Given the description of an element on the screen output the (x, y) to click on. 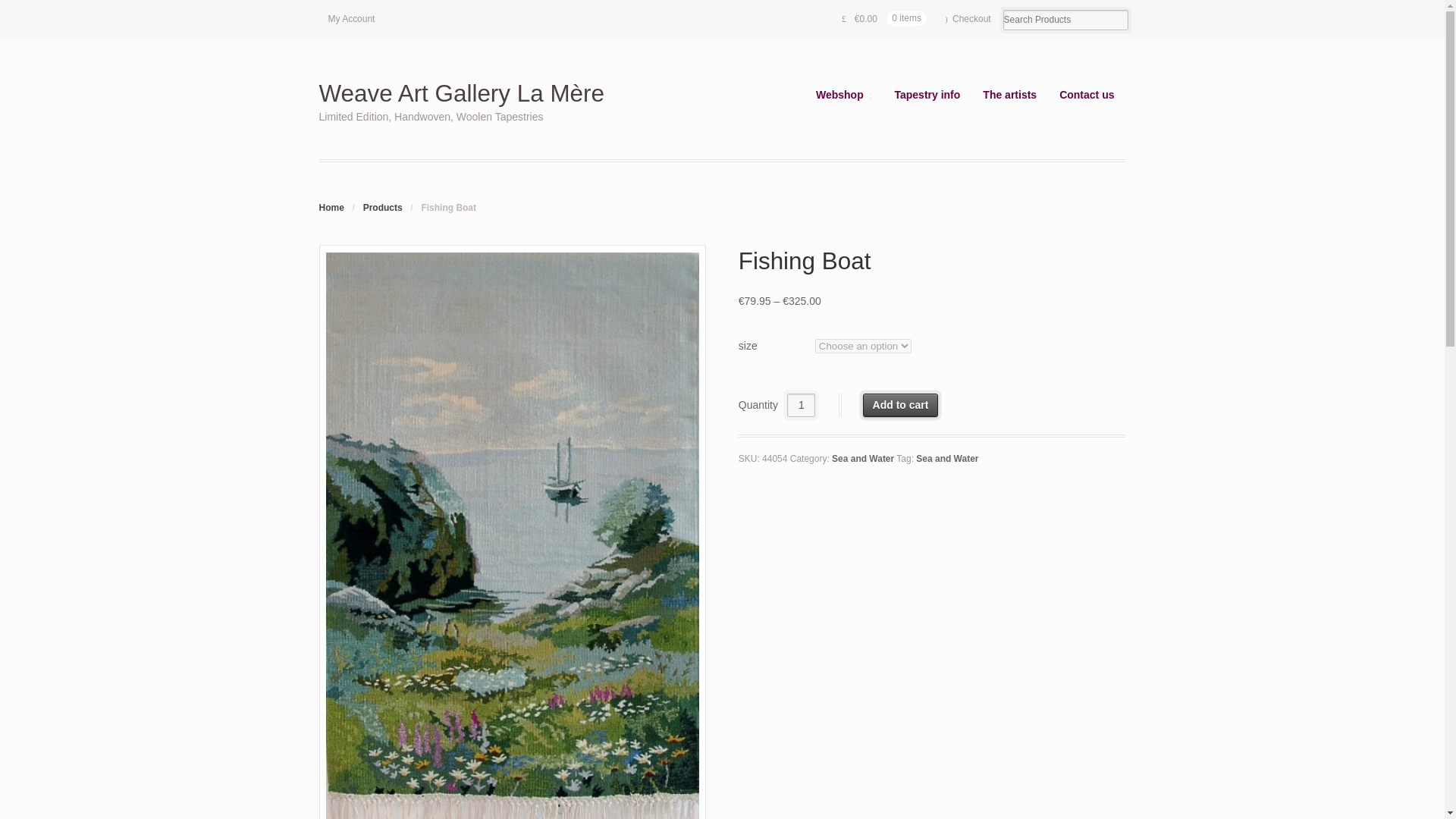
Search (62, 10)
Add to cart (901, 404)
1 (801, 404)
Products (382, 207)
View your shopping cart (884, 18)
Sea and Water (946, 458)
Checkout (967, 19)
Tapestry info (926, 94)
Products (382, 207)
Contact us (1086, 94)
The artists (1009, 94)
Sea and Water (862, 458)
My Account (351, 18)
Qty (801, 404)
Home (330, 207)
